Given the description of an element on the screen output the (x, y) to click on. 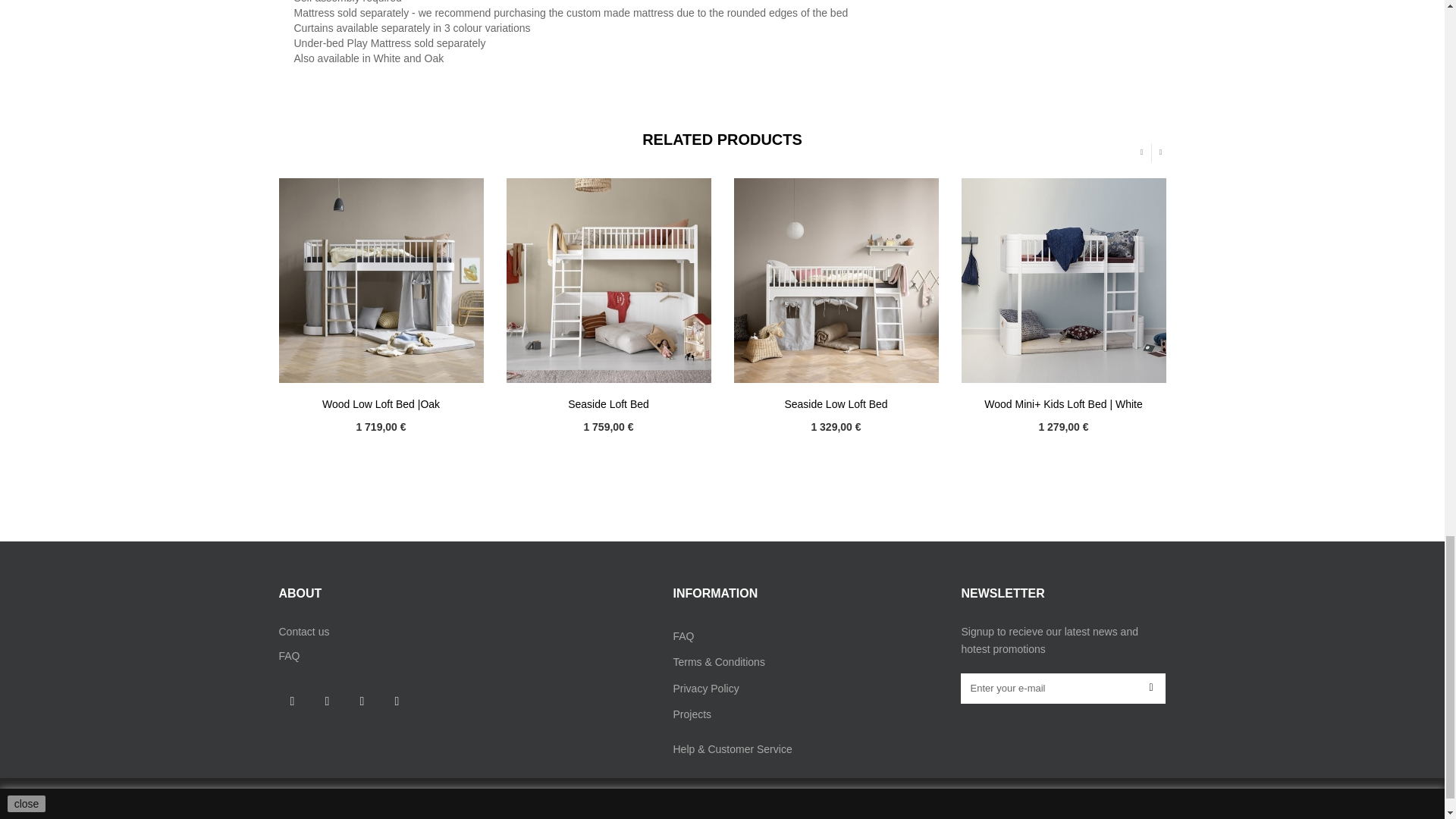
Enter your e-mail (1063, 688)
